Given the description of an element on the screen output the (x, y) to click on. 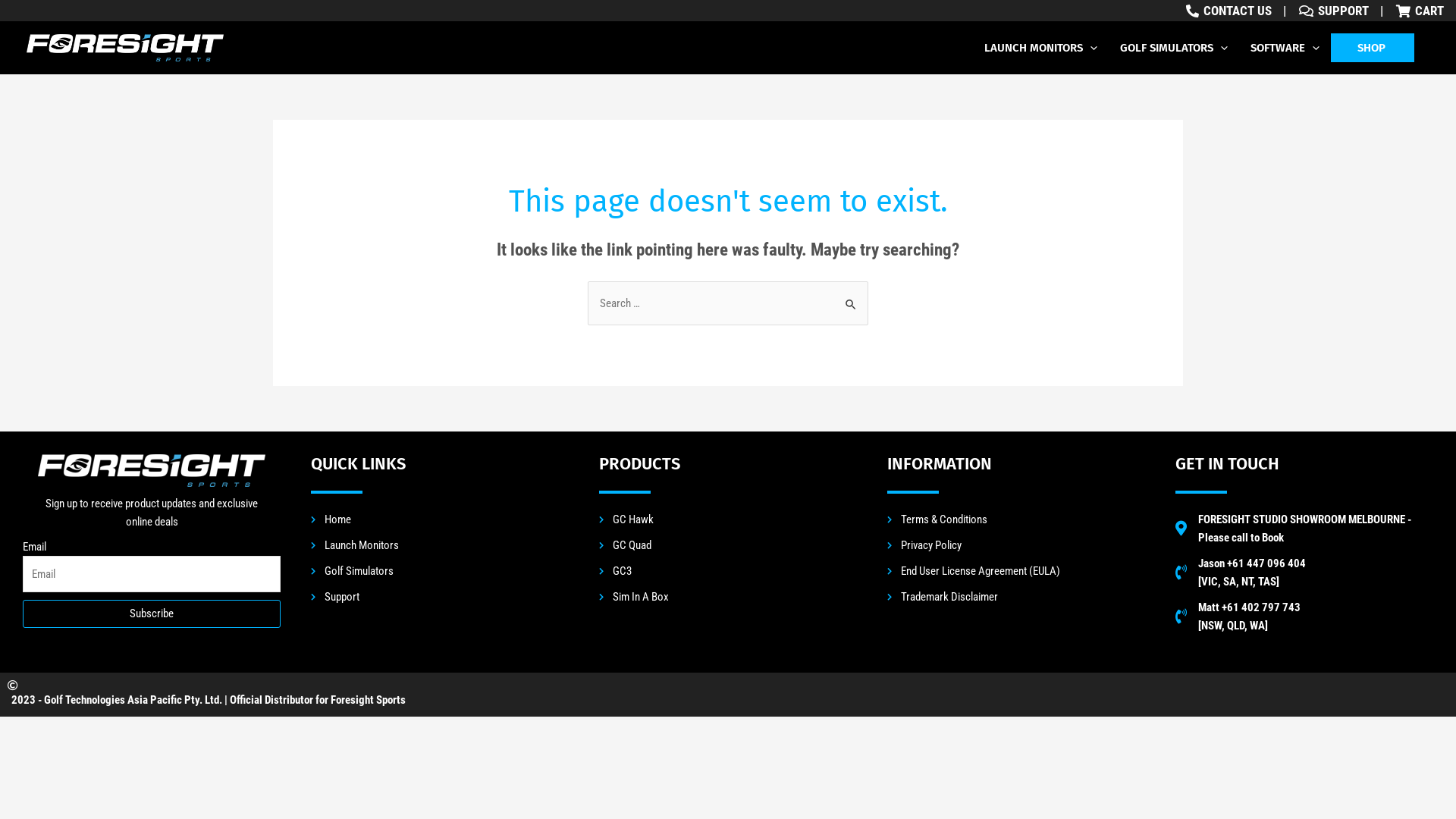
Subscribe Element type: text (151, 613)
GC3 Element type: text (727, 570)
Search Element type: text (851, 296)
Sim In A Box Element type: text (727, 596)
Terms & Conditions Element type: text (1016, 519)
GOLF SIMULATORS Element type: text (1173, 47)
SHOP Element type: text (1372, 47)
CART Element type: text (1418, 10)
Golf Simulators Element type: text (439, 570)
Launch Monitors Element type: text (439, 545)
Jason +61 447 096 404
[VIC, SA, NT, TAS] Element type: text (1240, 572)
Matt +61 402 797 743
[NSW, QLD, WA] Element type: text (1237, 616)
Trademark Disclaimer Element type: text (1016, 596)
GC Hawk Element type: text (727, 519)
SUPPORT Element type: text (1332, 10)
SOFTWARE Element type: text (1284, 47)
GC Quad Element type: text (727, 545)
CONTACT US Element type: text (1226, 10)
End User License Agreement (EULA) Element type: text (1016, 570)
Support Element type: text (439, 596)
LAUNCH MONITORS Element type: text (1040, 47)
Privacy Policy Element type: text (1016, 545)
Home Element type: text (439, 519)
